Given the description of an element on the screen output the (x, y) to click on. 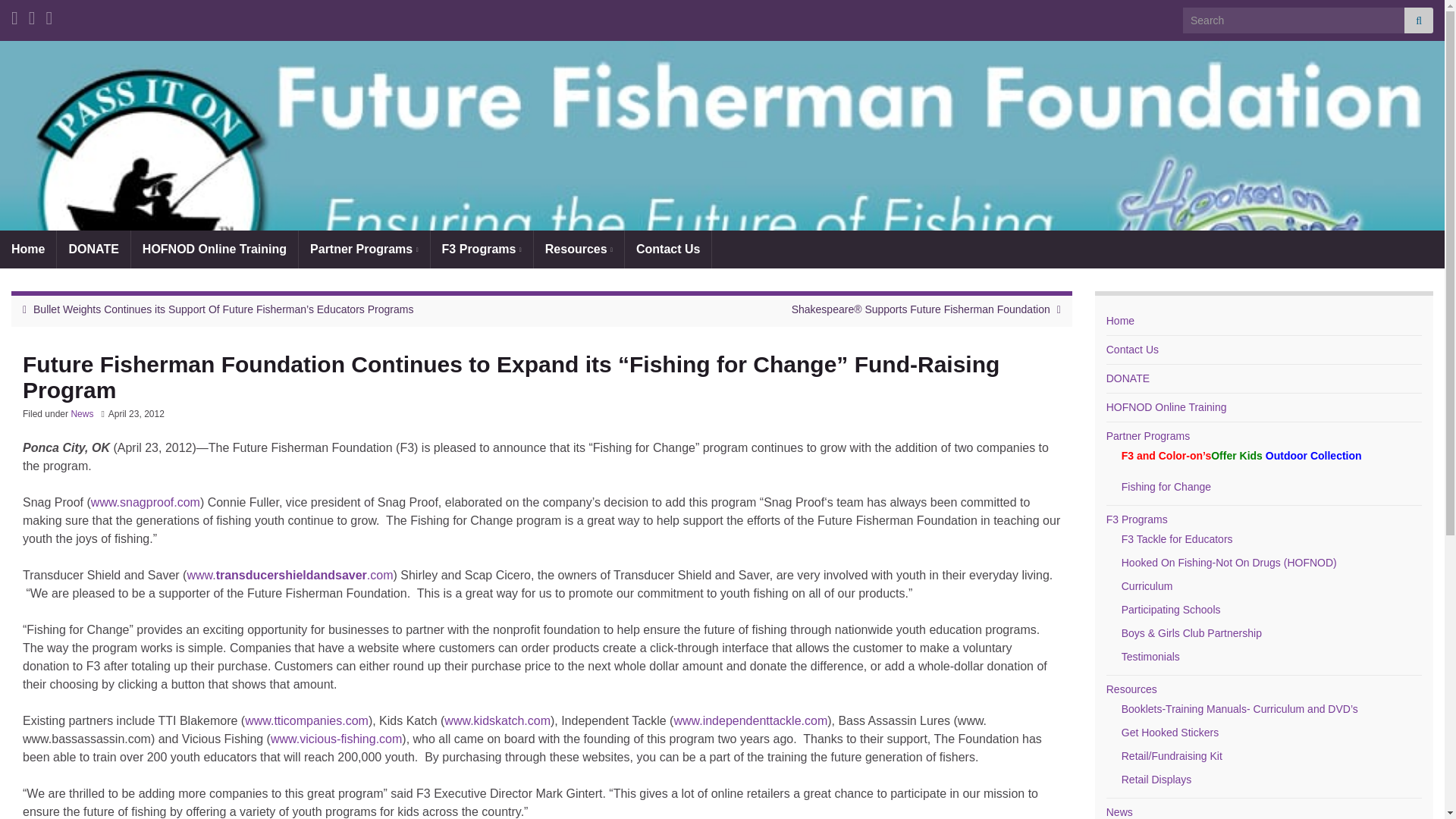
2012-04-23T11:12:00-05:00 (135, 413)
Contact Us (1132, 349)
www.transducershieldandsaver.com (289, 574)
Home (1120, 320)
DONATE (1128, 378)
Home (28, 249)
News (81, 413)
www.tticompanies.com (306, 720)
Contact Us (667, 249)
F3 Programs (481, 249)
www.vicious-fishing.com (335, 738)
www.snagproof.com (145, 502)
HOFNOD Online Training (1166, 407)
HOFNOD Online Training (214, 249)
Resources (579, 249)
